Given the description of an element on the screen output the (x, y) to click on. 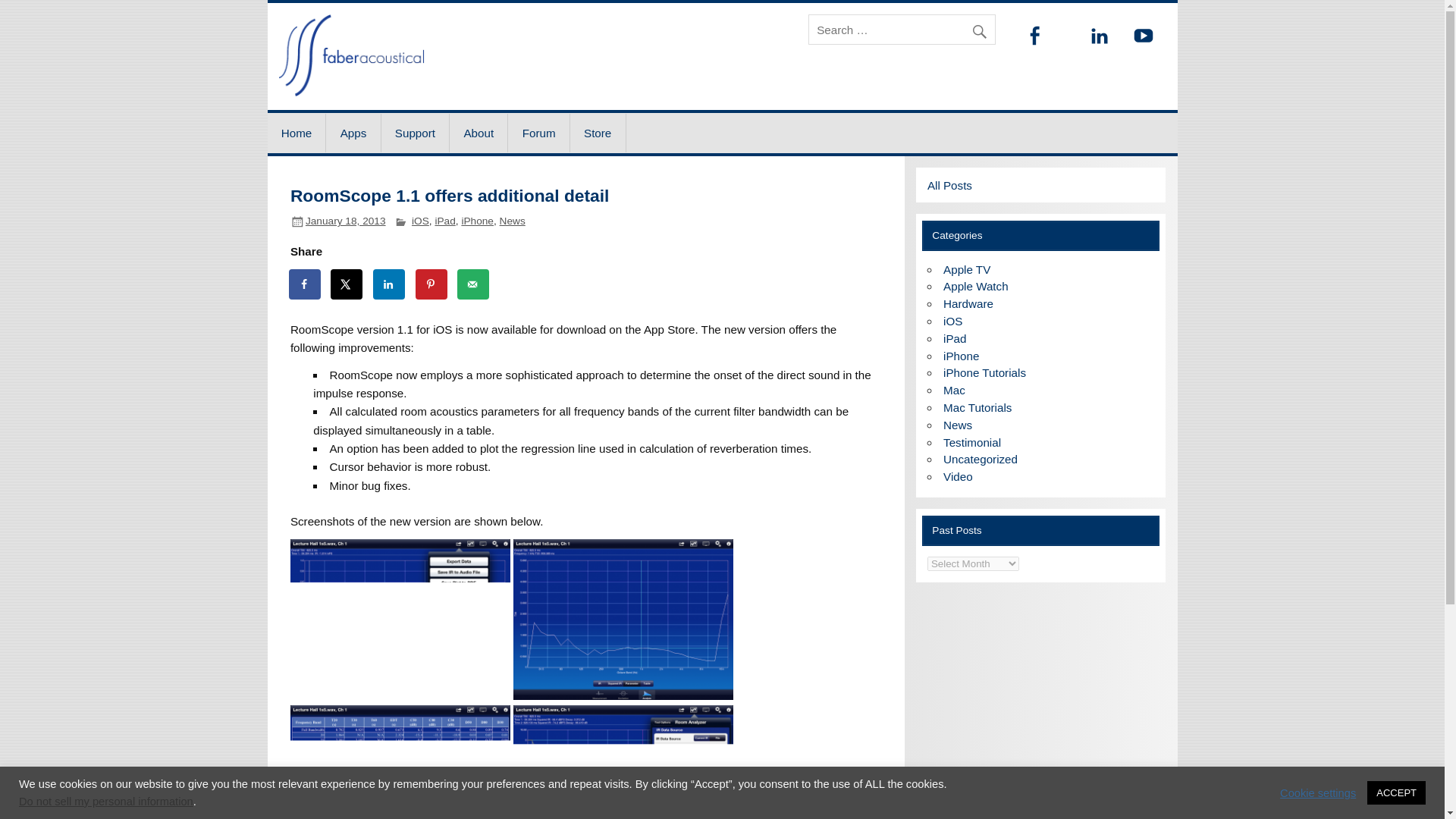
About (477, 133)
iPad (443, 220)
Apps (353, 133)
8:34 am (345, 220)
Share on LinkedIn (389, 284)
Support (415, 133)
Send over email (473, 284)
Forum (538, 133)
January 18, 2013 (345, 220)
News (512, 220)
